Given the description of an element on the screen output the (x, y) to click on. 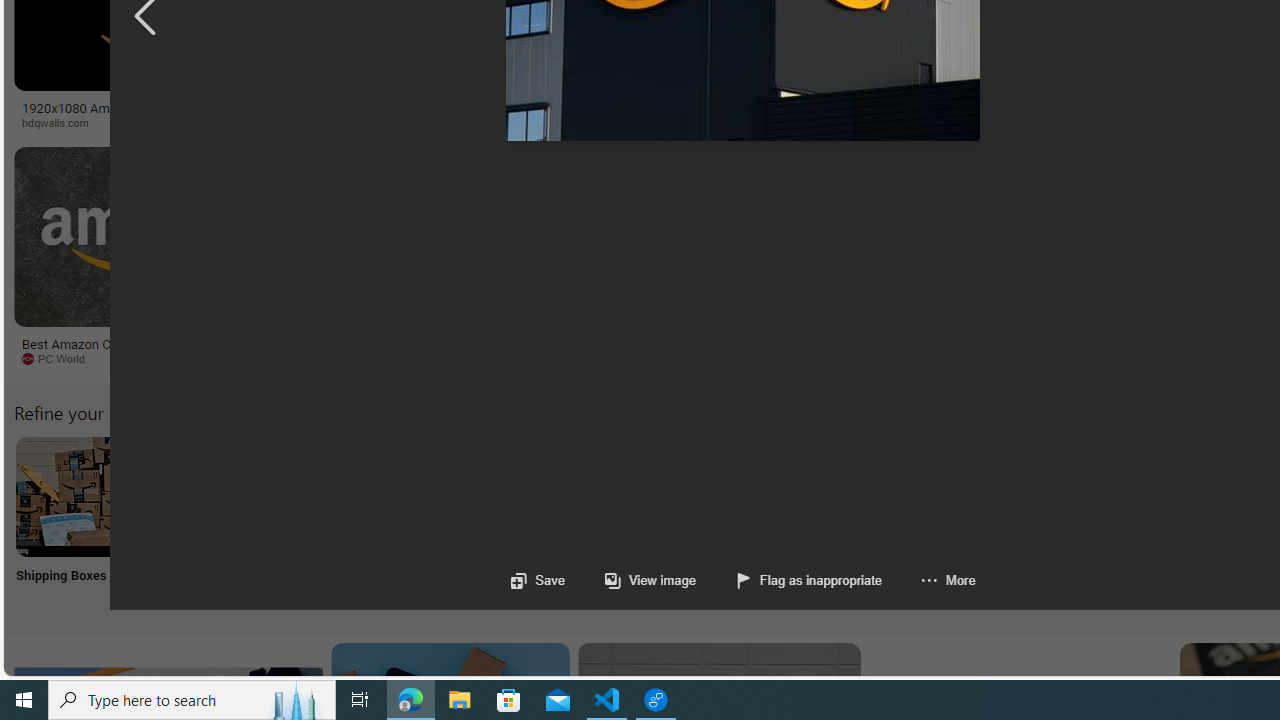
GOBankingRates (485, 123)
Amazon Wish List (999, 496)
Online Store (1131, 521)
Package Delivery (735, 521)
Amazon Online Store Online Store (1131, 521)
thewrap.com (937, 359)
Flag as inappropriate (809, 580)
Amazon Online Store (1131, 496)
